Given the description of an element on the screen output the (x, y) to click on. 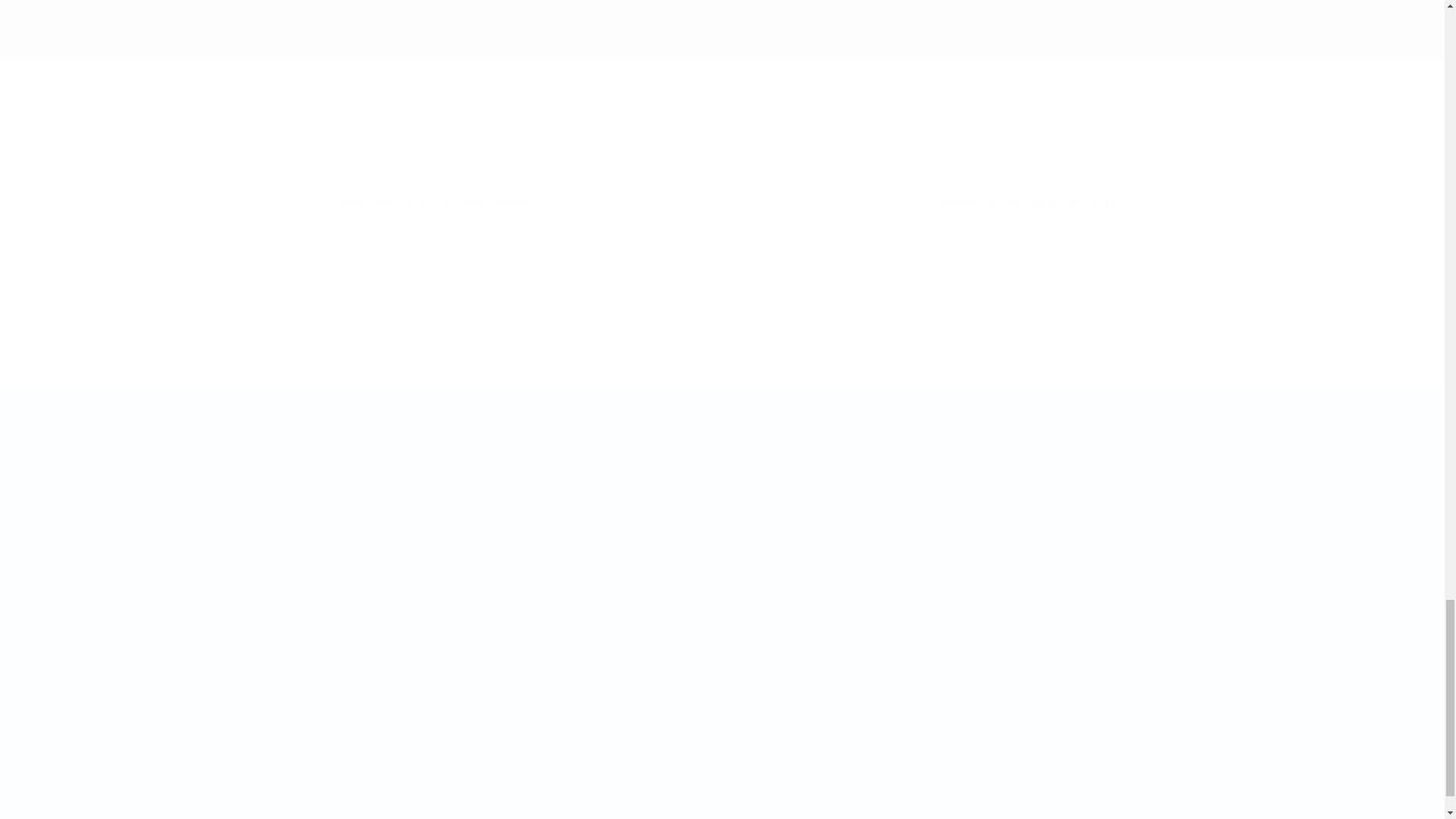
News (481, 480)
Cookie policy (777, 604)
Matches (487, 434)
UEFA.com (769, 455)
UEFA.com (769, 455)
Germany celebrate their final victory (721, 53)
Italiano (227, 455)
Deutsch (1029, 532)
Cookie Settings (1032, 486)
